Given the description of an element on the screen output the (x, y) to click on. 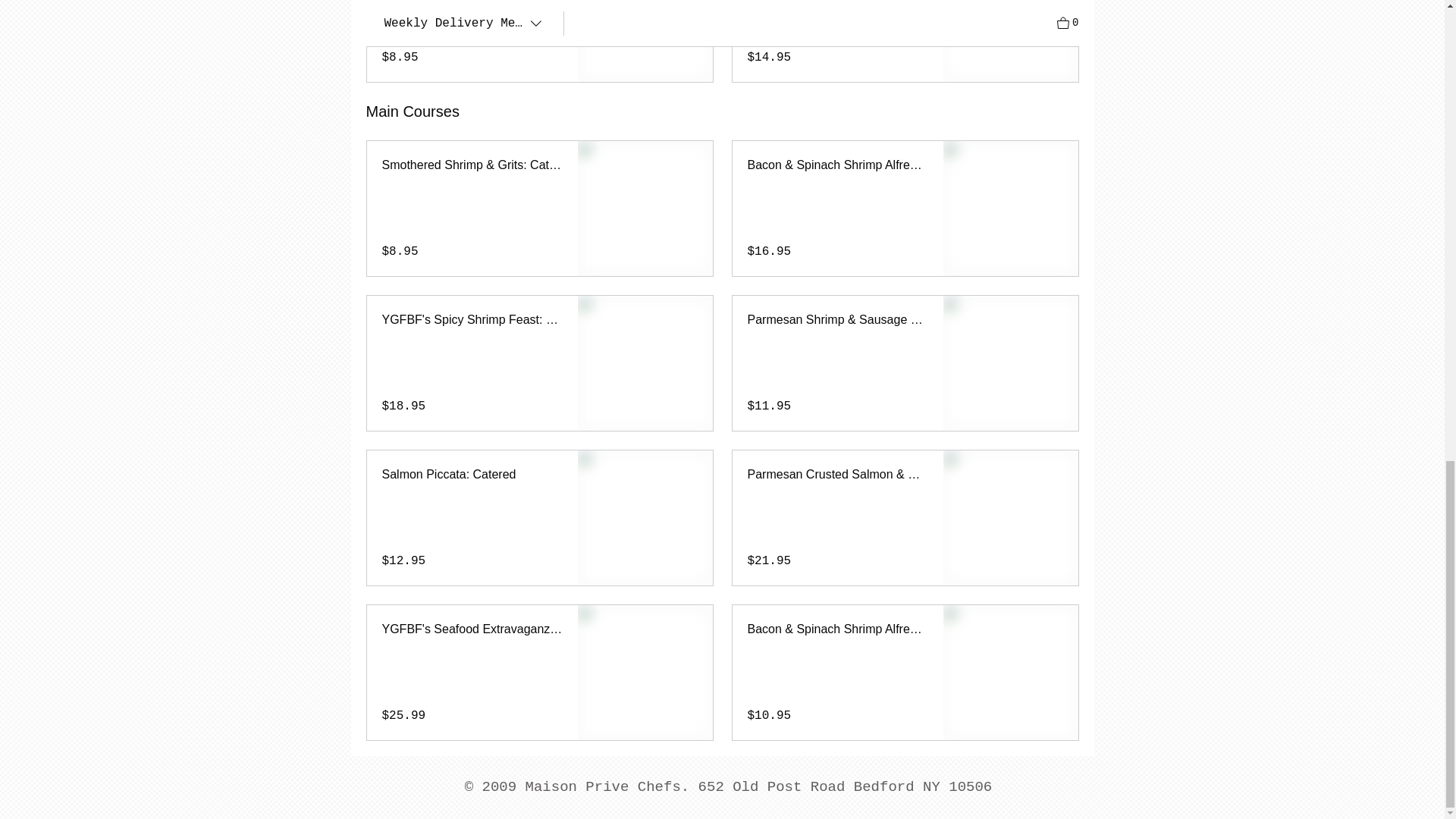
Salmon Piccata: Catered (471, 475)
YGFBF's Seafood Extravaganza: Catered (471, 628)
YGFBF's Spicy Shrimp Feast: Catered (471, 320)
